Given the description of an element on the screen output the (x, y) to click on. 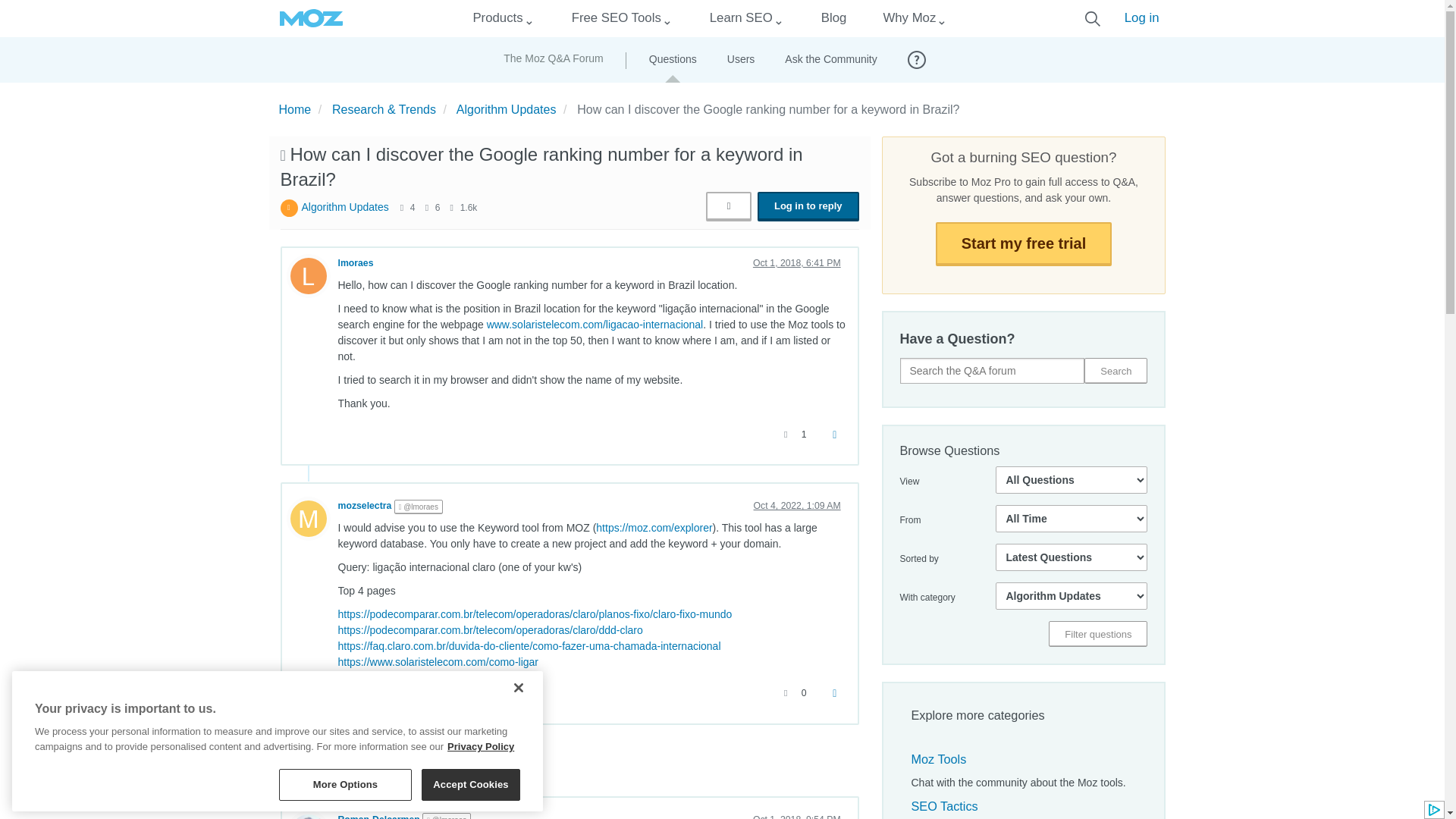
Moz logo (311, 18)
Products (496, 18)
Filter questions (1097, 633)
Search (1115, 370)
Moz Home (311, 18)
Moz logo (311, 18)
